Given the description of an element on the screen output the (x, y) to click on. 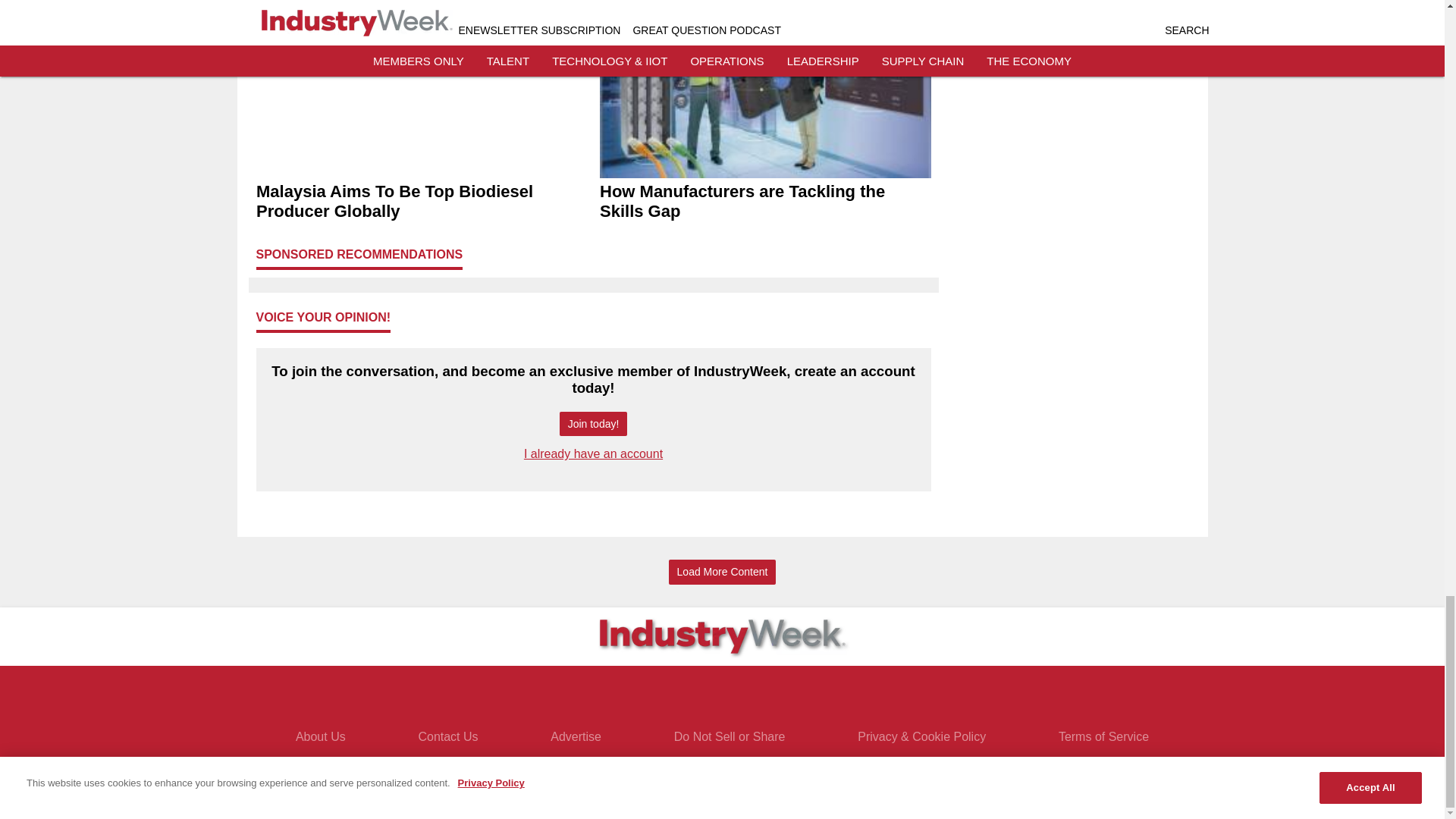
How Manufacturers are Tackling the Skills Gap (764, 201)
Malaysia Aims To Be Top Biodiesel Producer Globally (422, 201)
Join today! (593, 423)
I already have an account (593, 453)
